Given the description of an element on the screen output the (x, y) to click on. 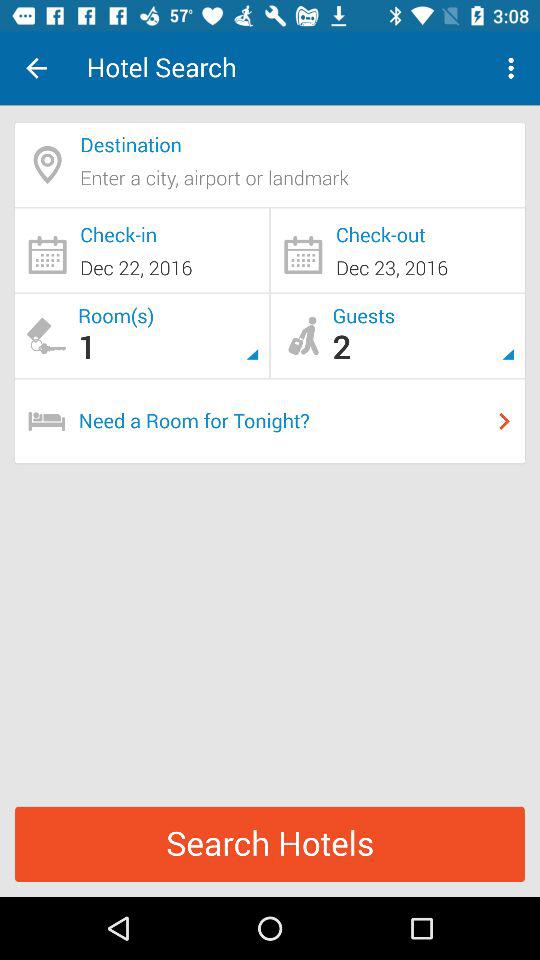
launch the item to the left of the hotel search icon (36, 68)
